Given the description of an element on the screen output the (x, y) to click on. 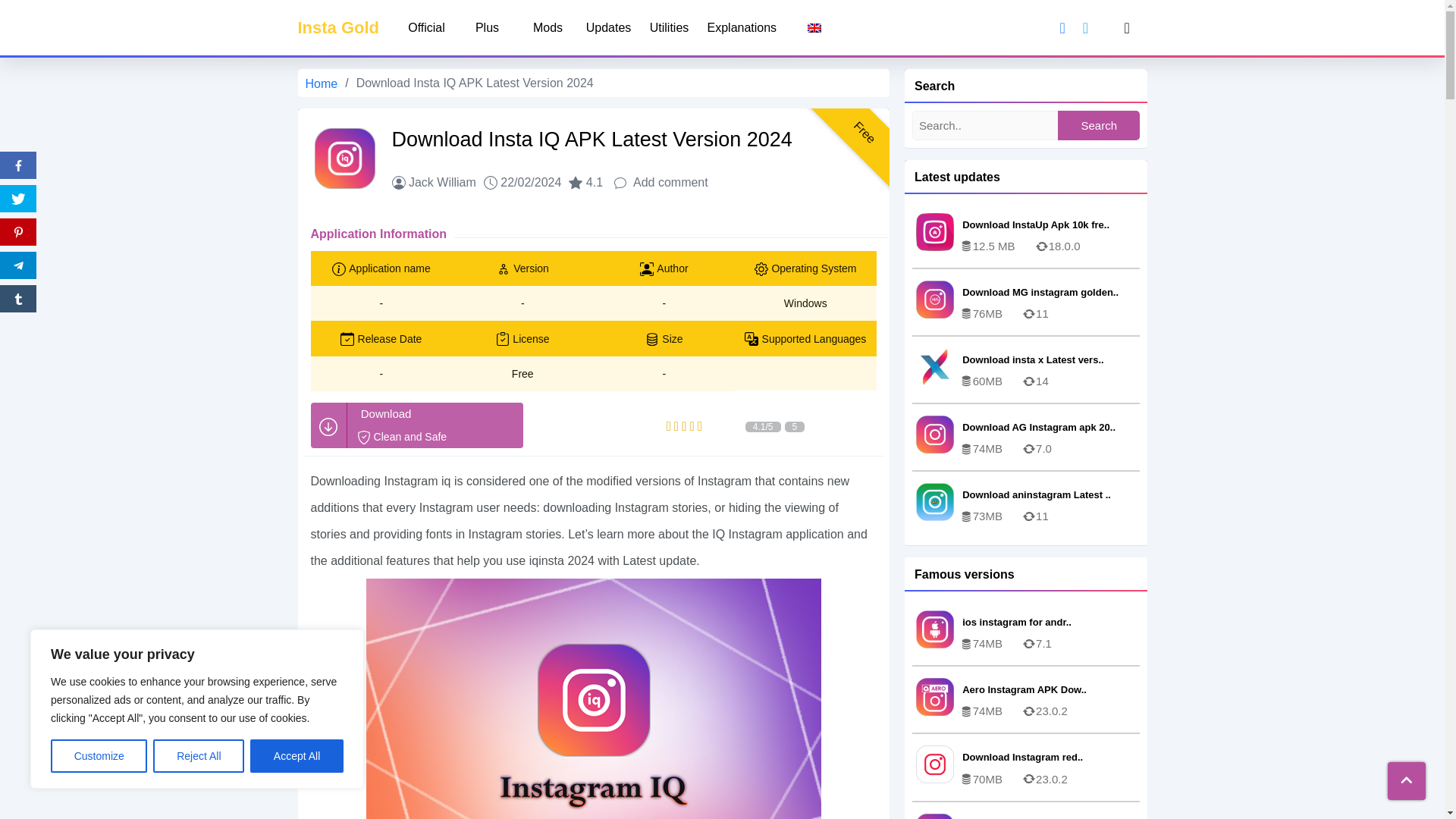
Explanations (741, 27)
Customize (98, 756)
Official (426, 27)
Accept All (296, 756)
Facebook (18, 165)
Reject All (198, 756)
Updates (608, 27)
Home (416, 424)
Insta Gold (320, 82)
Plus (337, 26)
Insta Gold (486, 27)
Mods (337, 26)
Download (547, 27)
Add comment (434, 413)
